Given the description of an element on the screen output the (x, y) to click on. 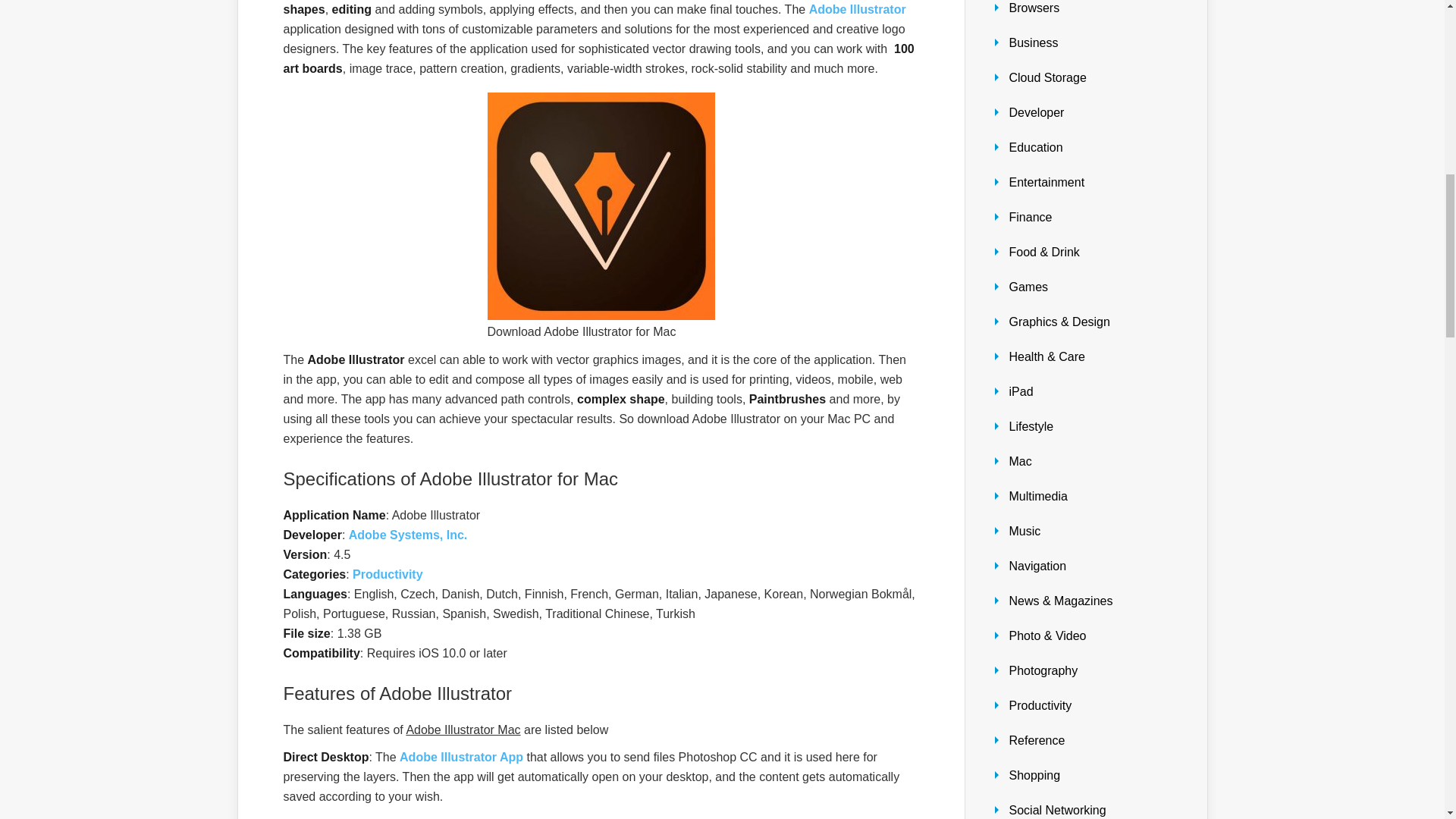
Productivity (387, 574)
Adobe Illustrator App (460, 757)
Adobe Systems, Inc. (408, 534)
Adobe Illustrator (857, 9)
